Given the description of an element on the screen output the (x, y) to click on. 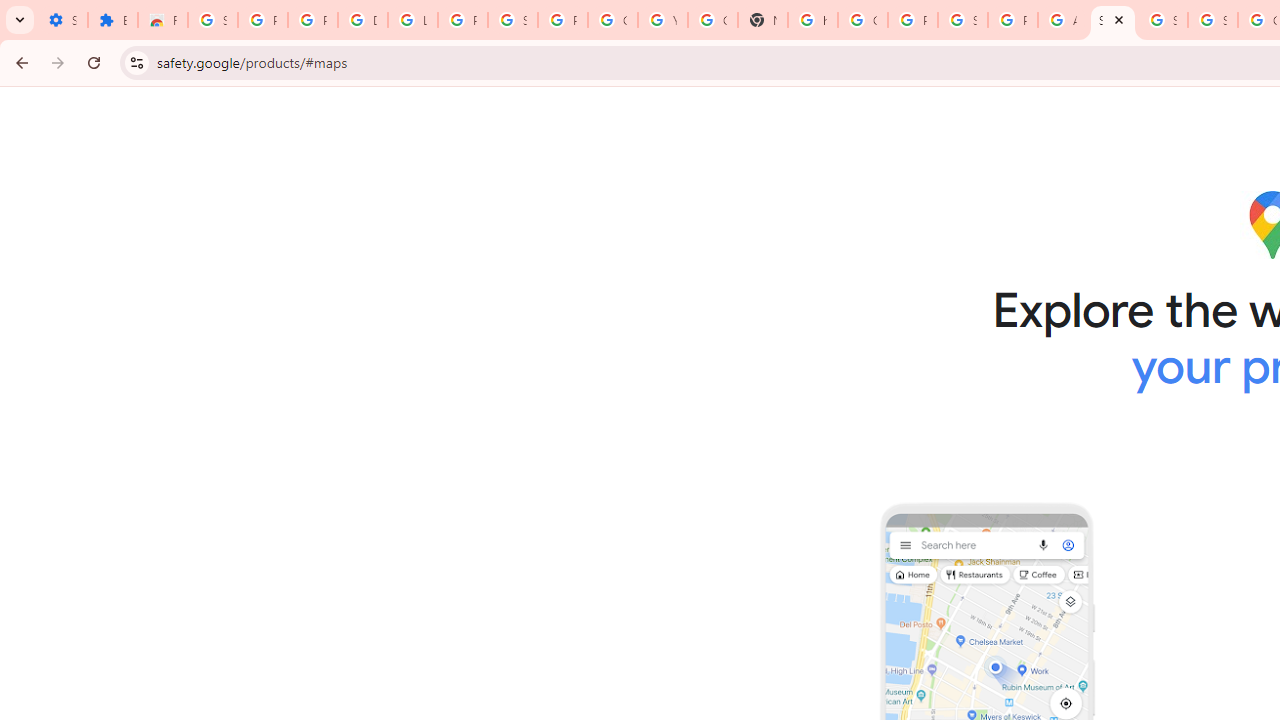
Google Account (612, 20)
YouTube (662, 20)
Settings - On startup (62, 20)
Extensions (113, 20)
Sign in - Google Accounts (963, 20)
https://scholar.google.com/ (813, 20)
